Given the description of an element on the screen output the (x, y) to click on. 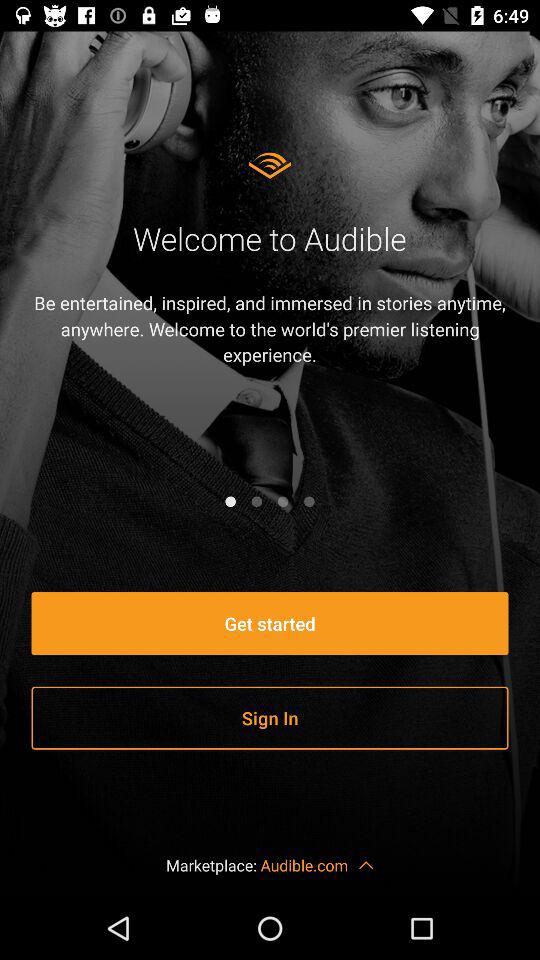
click item below the be entertained inspired item (230, 501)
